Given the description of an element on the screen output the (x, y) to click on. 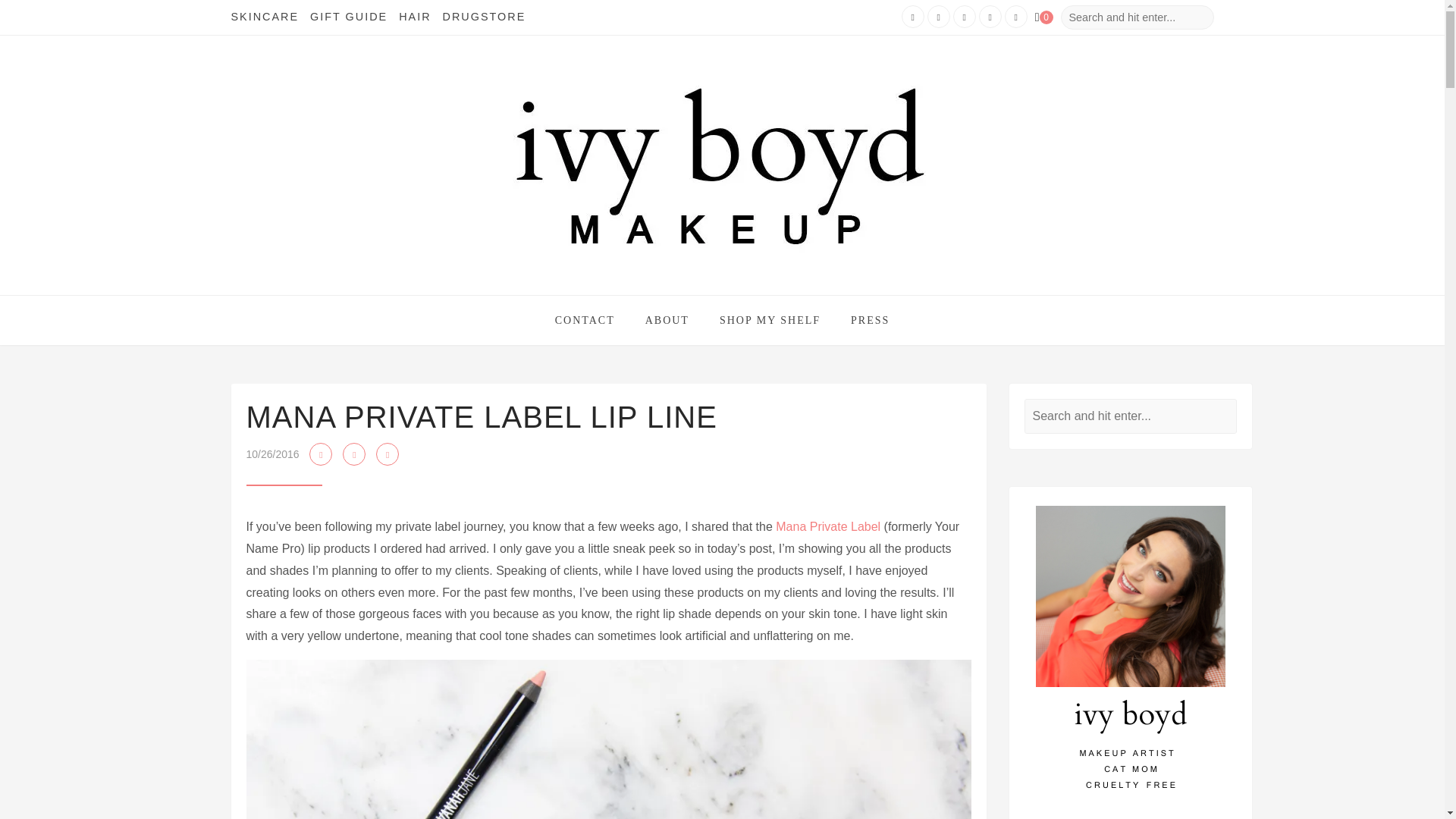
CONTACT (584, 319)
DRUGSTORE (483, 17)
Mana Private Label (828, 526)
HAIR (414, 17)
SKINCARE (264, 17)
GIFT GUIDE (348, 17)
SHOP MY SHELF (770, 319)
ABOUT (666, 319)
